Given the description of an element on the screen output the (x, y) to click on. 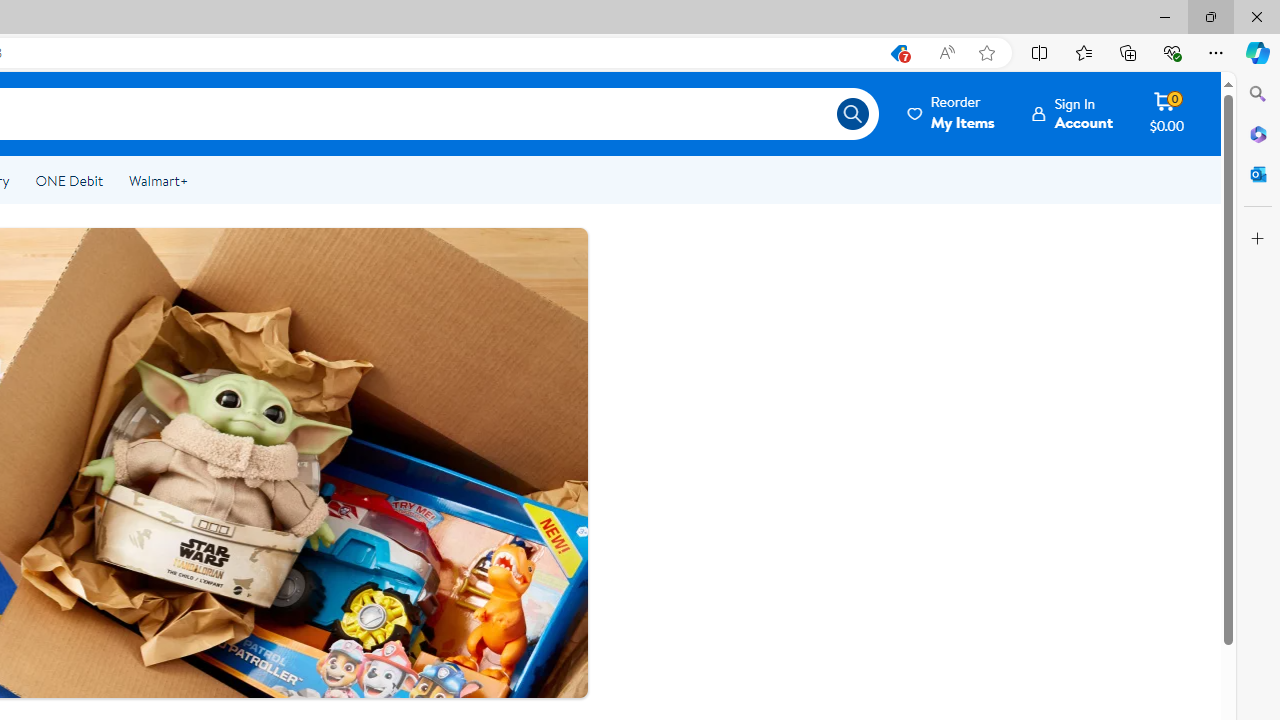
ONE Debit (68, 180)
Walmart+ (158, 180)
ONE Debit (68, 180)
ReorderMy Items (952, 113)
